Given the description of an element on the screen output the (x, y) to click on. 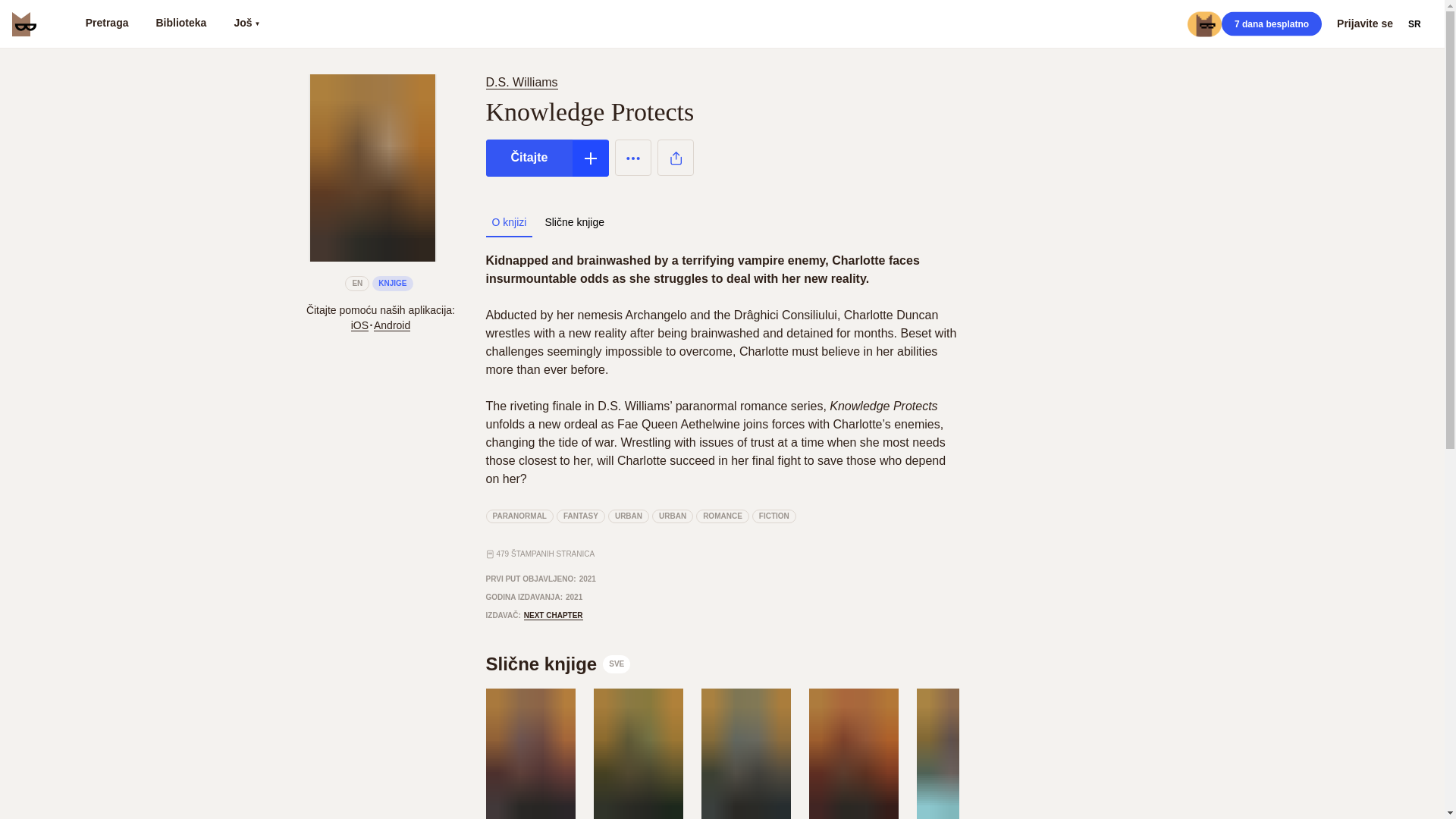
URBAN (628, 516)
FANTASY (580, 516)
Biblioteka (180, 24)
NEXT CHAPTER (553, 614)
O knjizi (508, 222)
ROMANCE (722, 516)
D.S. Williams (523, 82)
Pretraga (106, 24)
D.S. Williams (520, 82)
URBAN (672, 516)
7 dana besplatno (1271, 23)
FICTION (774, 516)
PARANORMAL (518, 516)
